Given the description of an element on the screen output the (x, y) to click on. 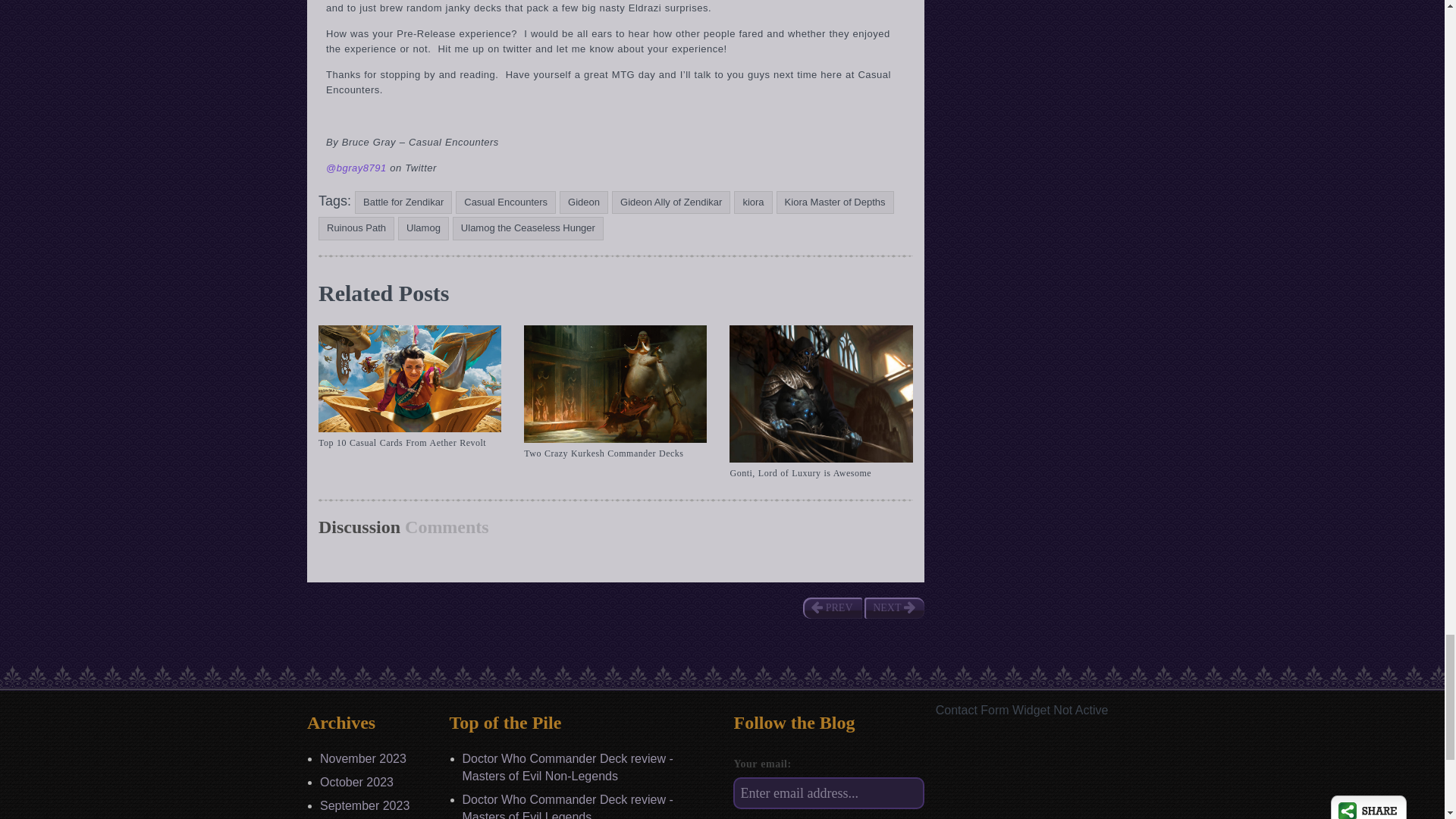
Enter email address... (828, 793)
